Given the description of an element on the screen output the (x, y) to click on. 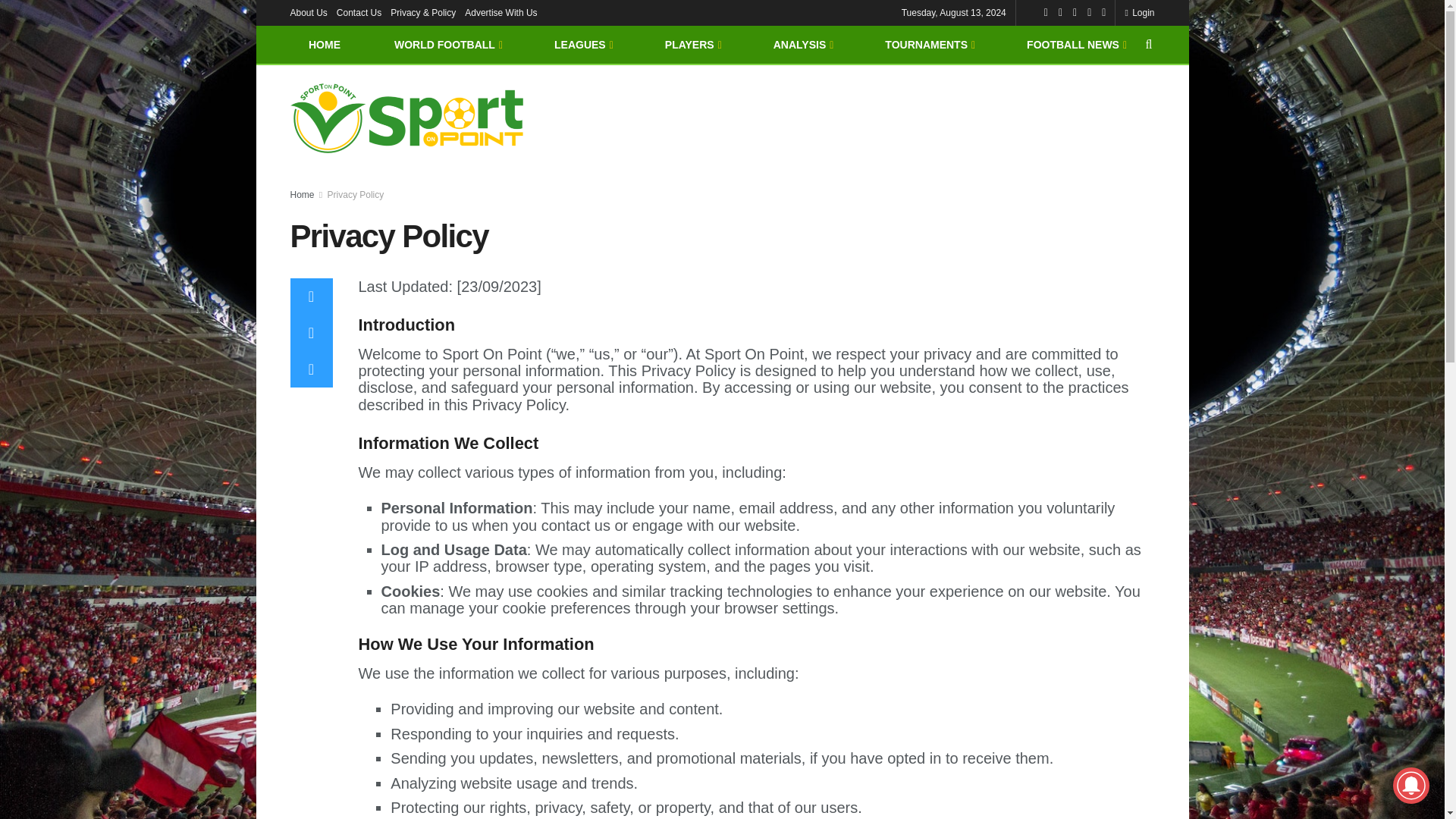
FOOTBALL NEWS (1075, 44)
Contact Us (358, 12)
WORLD FOOTBALL (446, 44)
HOME (323, 44)
TOURNAMENTS (928, 44)
PLAYERS (692, 44)
Login (1139, 12)
About Us (307, 12)
LEAGUES (582, 44)
ANALYSIS (802, 44)
